Given the description of an element on the screen output the (x, y) to click on. 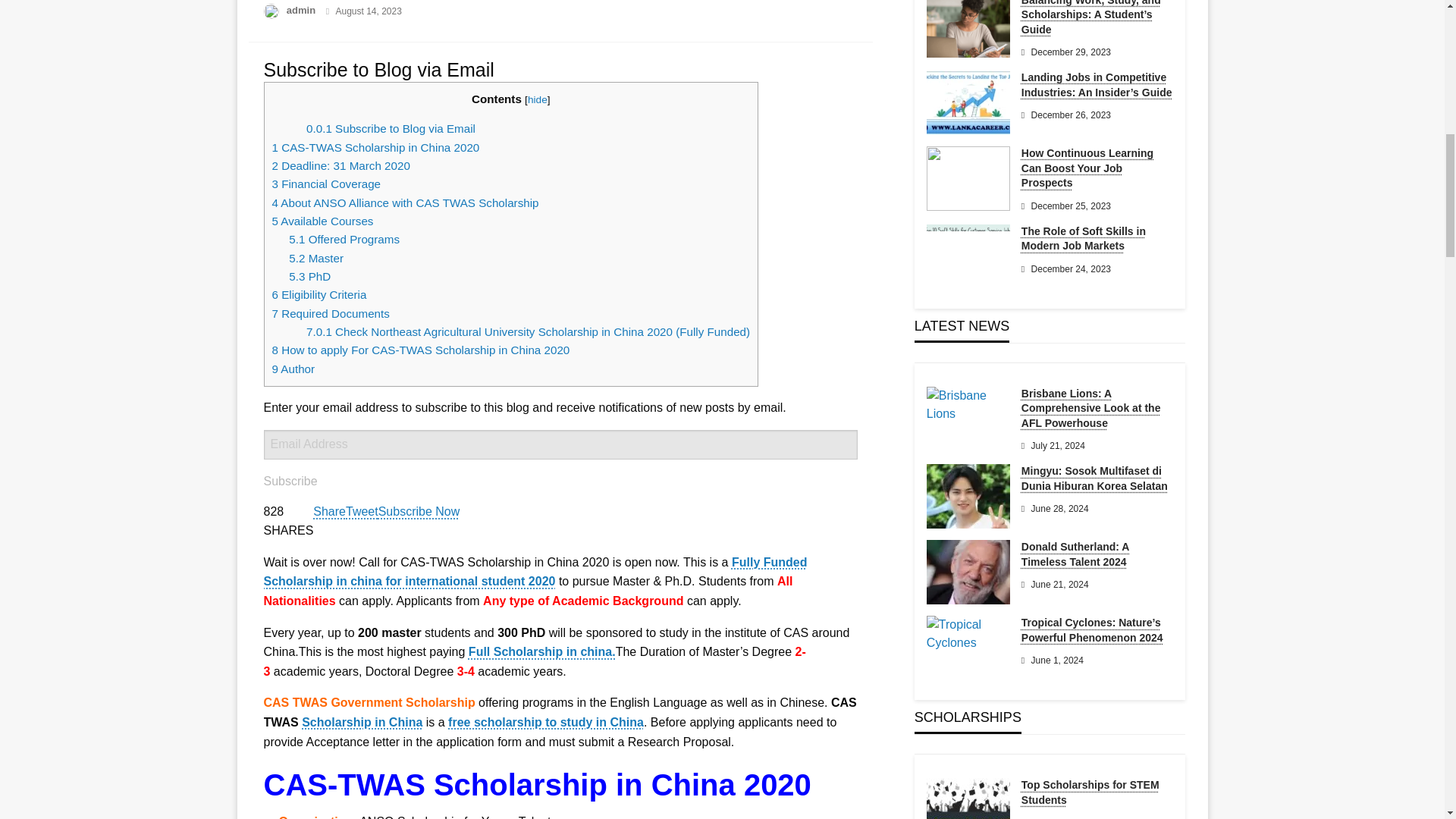
3 Financial Coverage (325, 183)
admin (302, 9)
1 CAS-TWAS Scholarship in China 2020 (374, 146)
0.0.1 Subscribe to Blog via Email (390, 128)
hide (537, 99)
5 Available Courses  (322, 220)
2 Deadline: 31 March 2020 (339, 164)
4 About ANSO Alliance with CAS TWAS Scholarship (404, 202)
August 14, 2023 (367, 10)
admin (302, 9)
